Given the description of an element on the screen output the (x, y) to click on. 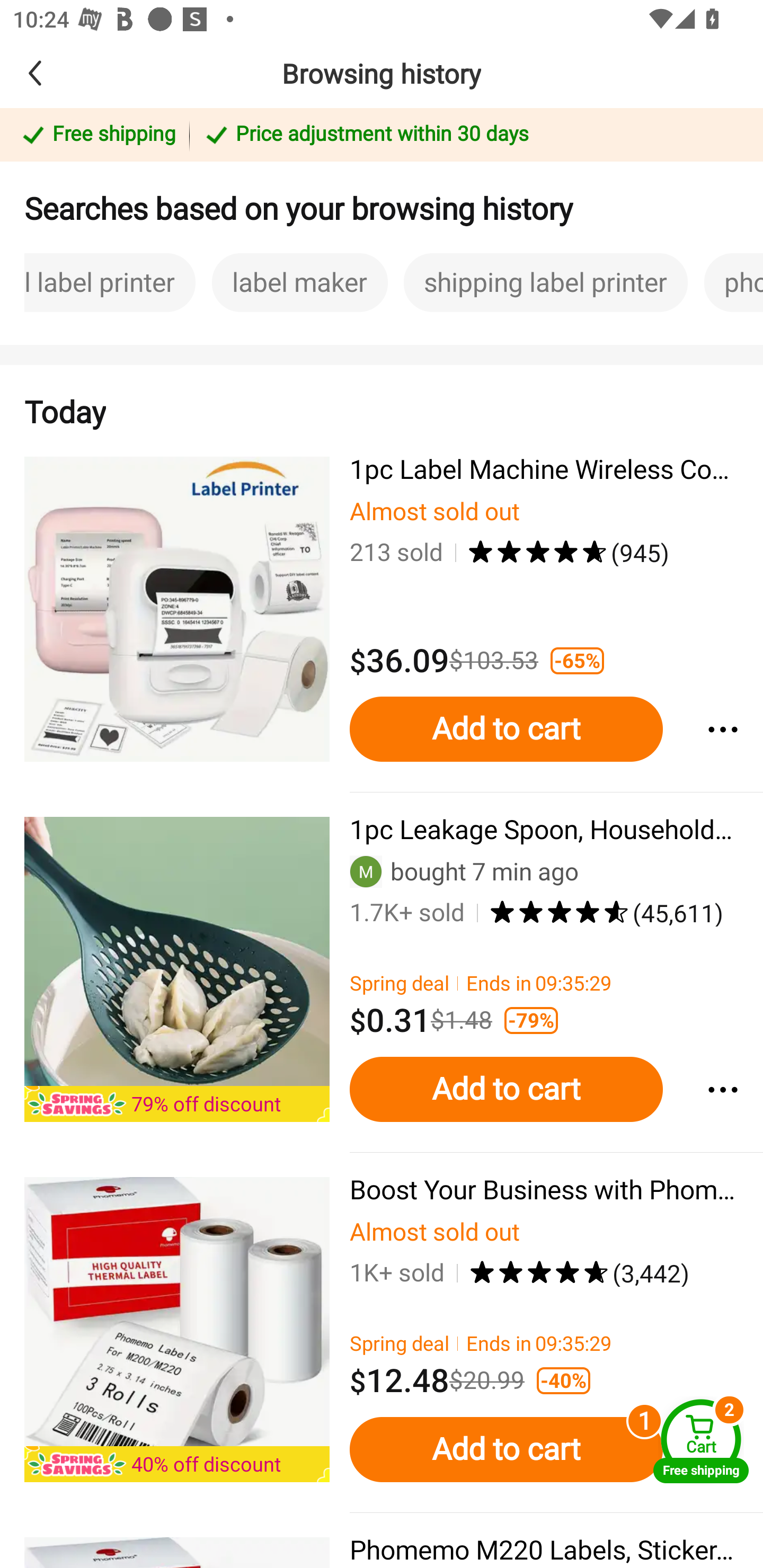
Back  back (63, 72)
Free shipping (97, 135)
Price adjustment within 30 days (472, 135)
thermal label printer (97, 282)
label maker (299, 282)
shipping label printer (545, 282)
Add to cart (506, 729)
 (721, 729)
Add to cart (506, 1089)
 (721, 1089)
Cart Free shipping Cart (701, 1440)
Add to cart 1 (506, 1449)
